Given the description of an element on the screen output the (x, y) to click on. 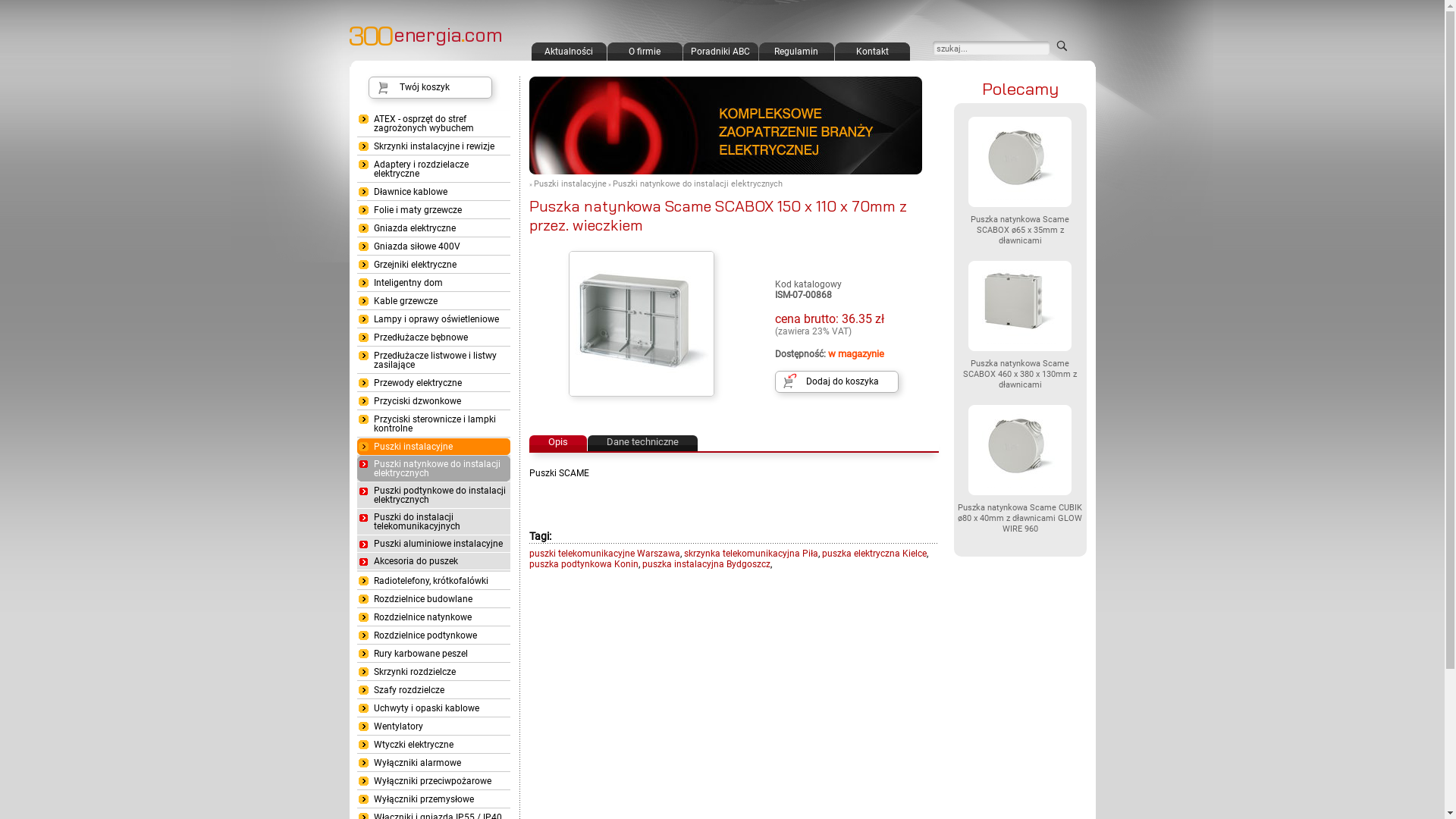
szukaj... Element type: text (991, 48)
Kable grzewcze Element type: text (432, 300)
Poradniki ABC Element type: text (719, 51)
Inteligentny dom Element type: text (432, 282)
puszka instalacyjna Bydgoszcz Element type: text (705, 563)
Puszki natynkowe do instalacji elektrycznych Element type: text (697, 183)
Dane techniczne Element type: text (641, 443)
Puszki natynkowe do instalacji elektrycznych Element type: text (432, 470)
Gniazda elektryczne Element type: text (432, 227)
puszka elektryczna Kielce Element type: text (874, 553)
Opis Element type: text (557, 443)
Przyciski dzwonkowe Element type: text (432, 400)
Puszki do instalacji telekomunikacyjnych Element type: text (432, 521)
Puszki podtynkowe do instalacji elektrycznych Element type: text (432, 495)
Rury karbowane peszel Element type: text (432, 653)
Adaptery i rozdzielacze elektryczne Element type: text (432, 169)
Dodaj do koszyka Element type: text (836, 381)
Szafy rozdzielcze Element type: text (432, 689)
Puszki instalacyjne Element type: text (569, 183)
Rozdzielnice podtynkowe Element type: text (432, 635)
Puszki instalacyjne Element type: text (432, 448)
Akcesoria do puszek Element type: text (432, 560)
Uchwyty i opaski kablowe Element type: text (432, 707)
Folie i maty grzewcze Element type: text (432, 209)
Wentylatory Element type: text (432, 726)
Kontakt Element type: text (871, 51)
Rozdzielnice budowlane Element type: text (432, 598)
puszka podtynkowa Konin Element type: text (583, 563)
Skrzynki rozdzielcze Element type: text (432, 671)
Regulamin Element type: text (796, 51)
Wtyczki elektryczne Element type: text (432, 744)
puszki telekomunikacyjne Warszawa Element type: text (604, 553)
Grzejniki elektryczne Element type: text (432, 264)
Przewody elektryczne Element type: text (432, 382)
Przyciski sterownicze i lampki kontrolne Element type: text (432, 423)
Puszki aluminiowe instalacyjne Element type: text (432, 543)
O firmie Element type: text (644, 51)
Rozdzielnice natynkowe Element type: text (432, 616)
Skrzynki instalacyjne i rewizje Element type: text (432, 146)
